Given the description of an element on the screen output the (x, y) to click on. 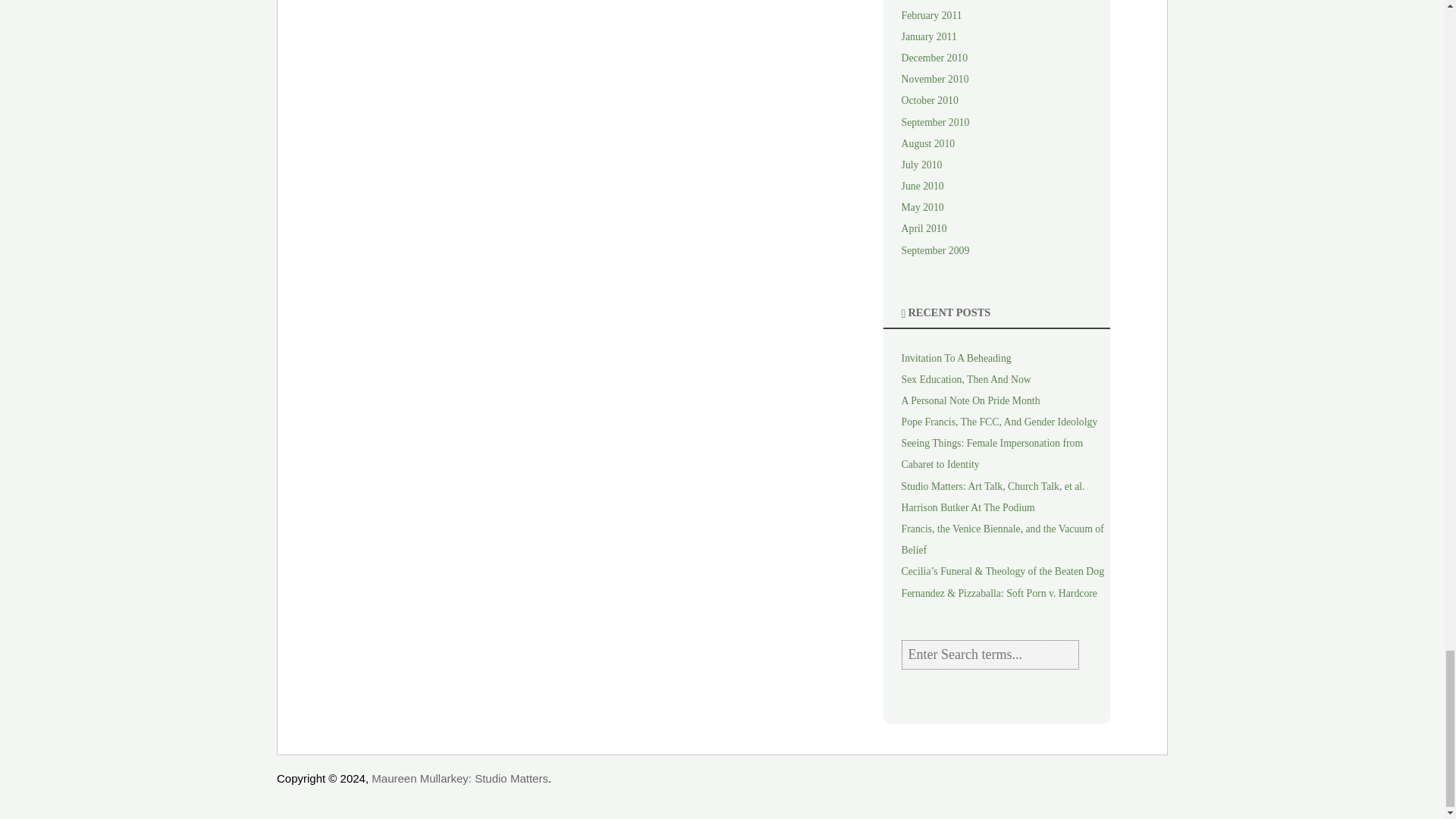
Search for: (989, 654)
